Given the description of an element on the screen output the (x, y) to click on. 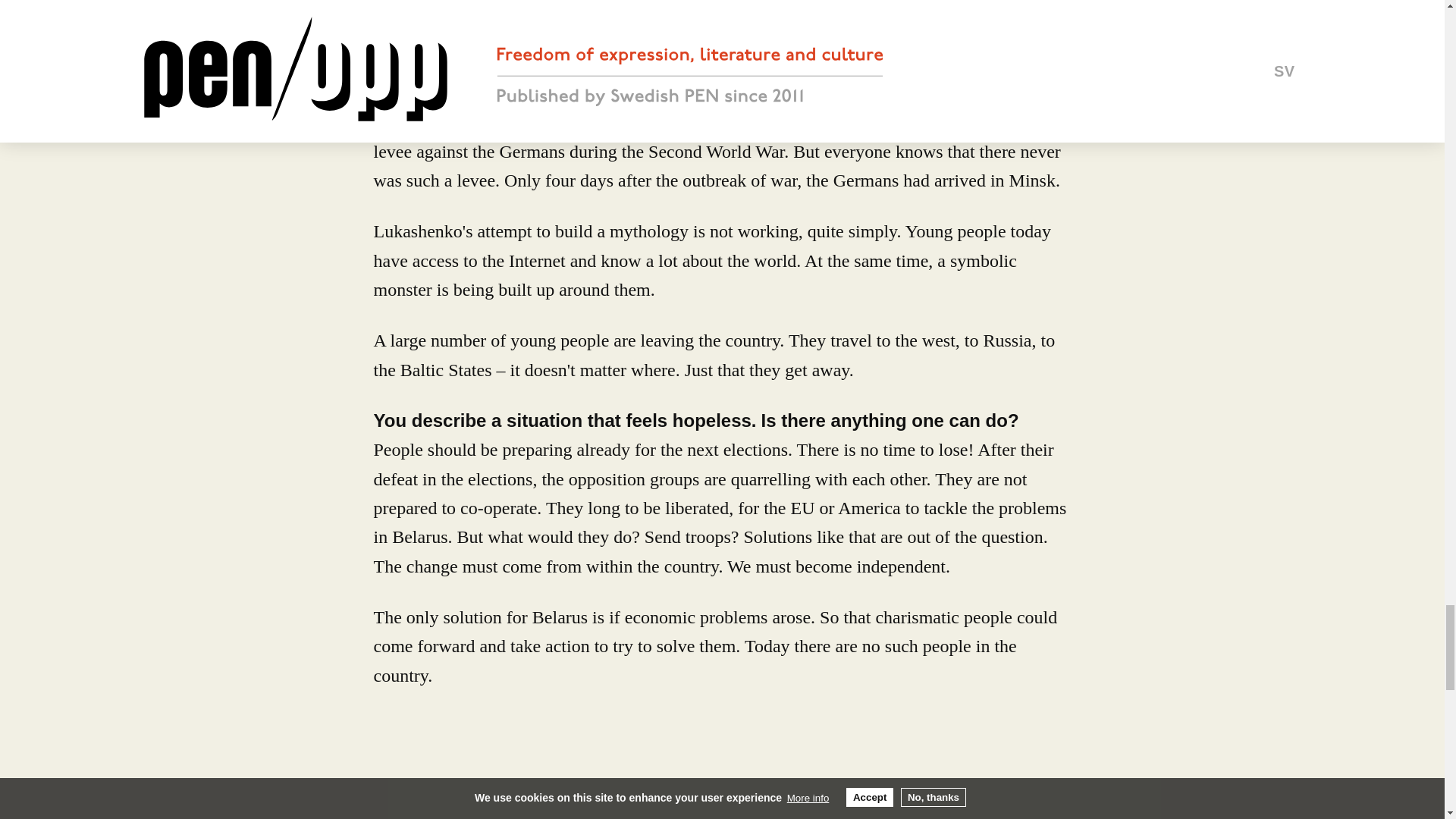
Print (555, 781)
Twitter (387, 780)
E-mail (495, 780)
Facebook (440, 780)
